Given the description of an element on the screen output the (x, y) to click on. 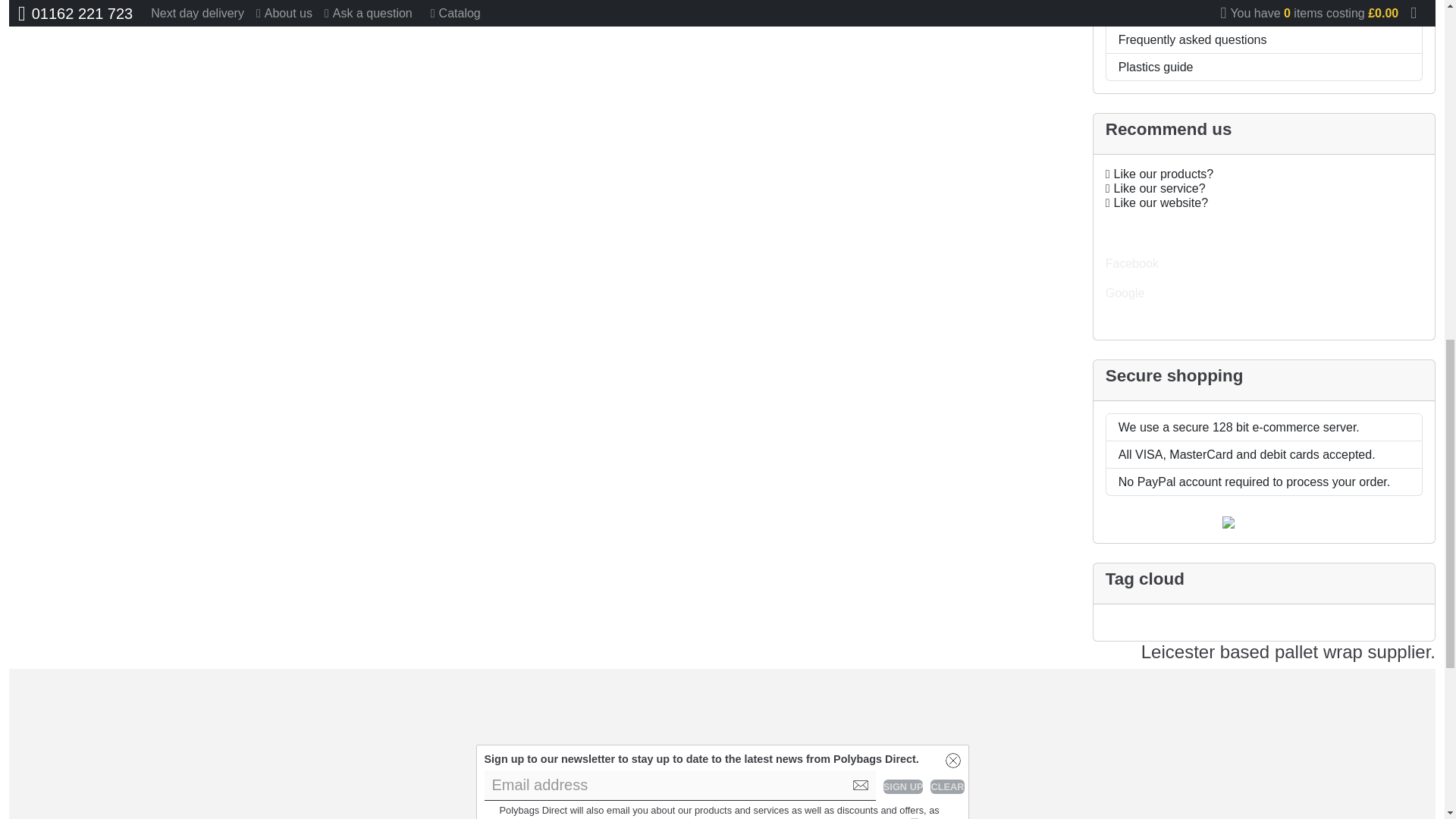
Facebook (1263, 233)
